Given the description of an element on the screen output the (x, y) to click on. 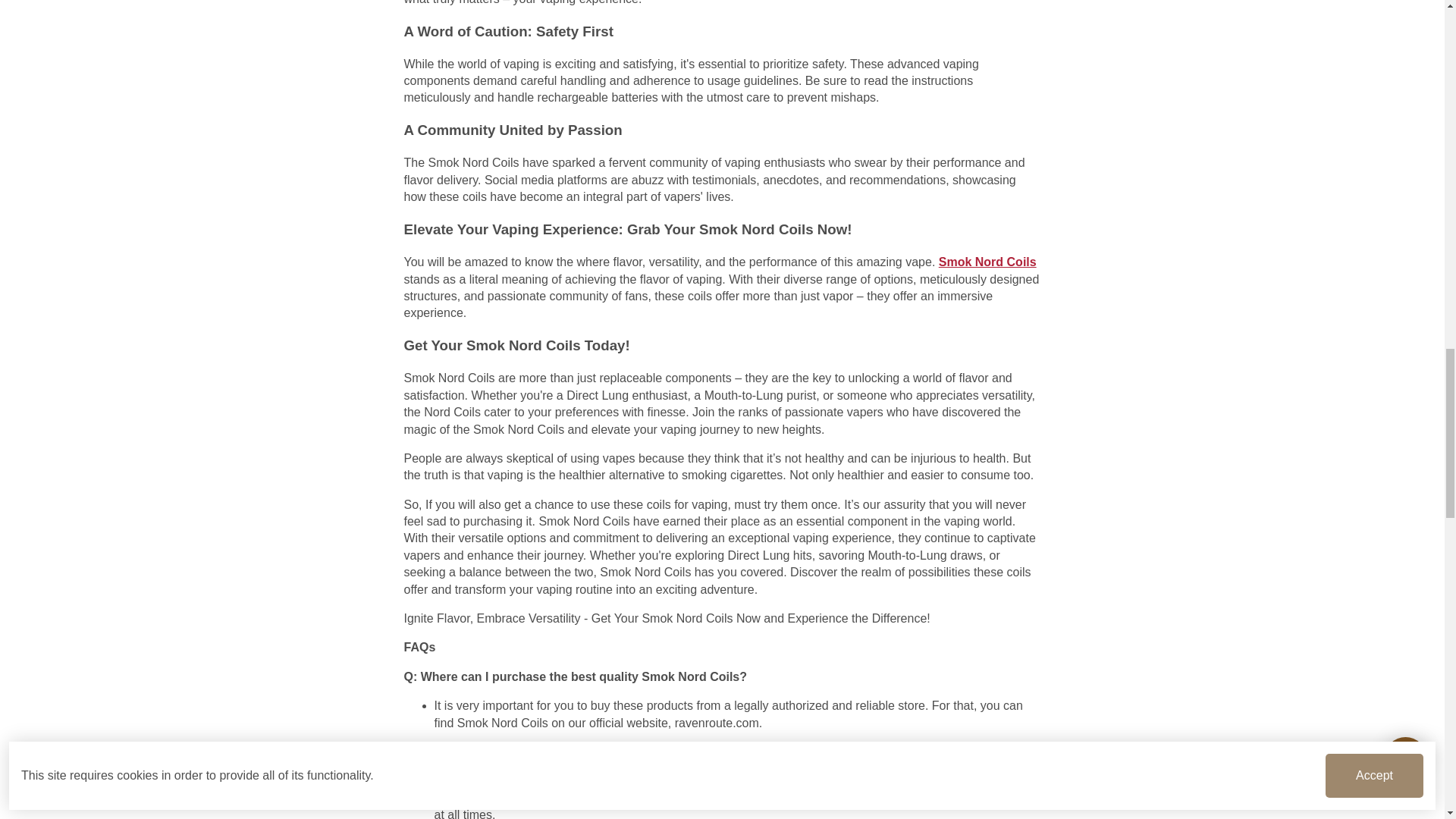
Smok Nord Coils (987, 261)
